Given the description of an element on the screen output the (x, y) to click on. 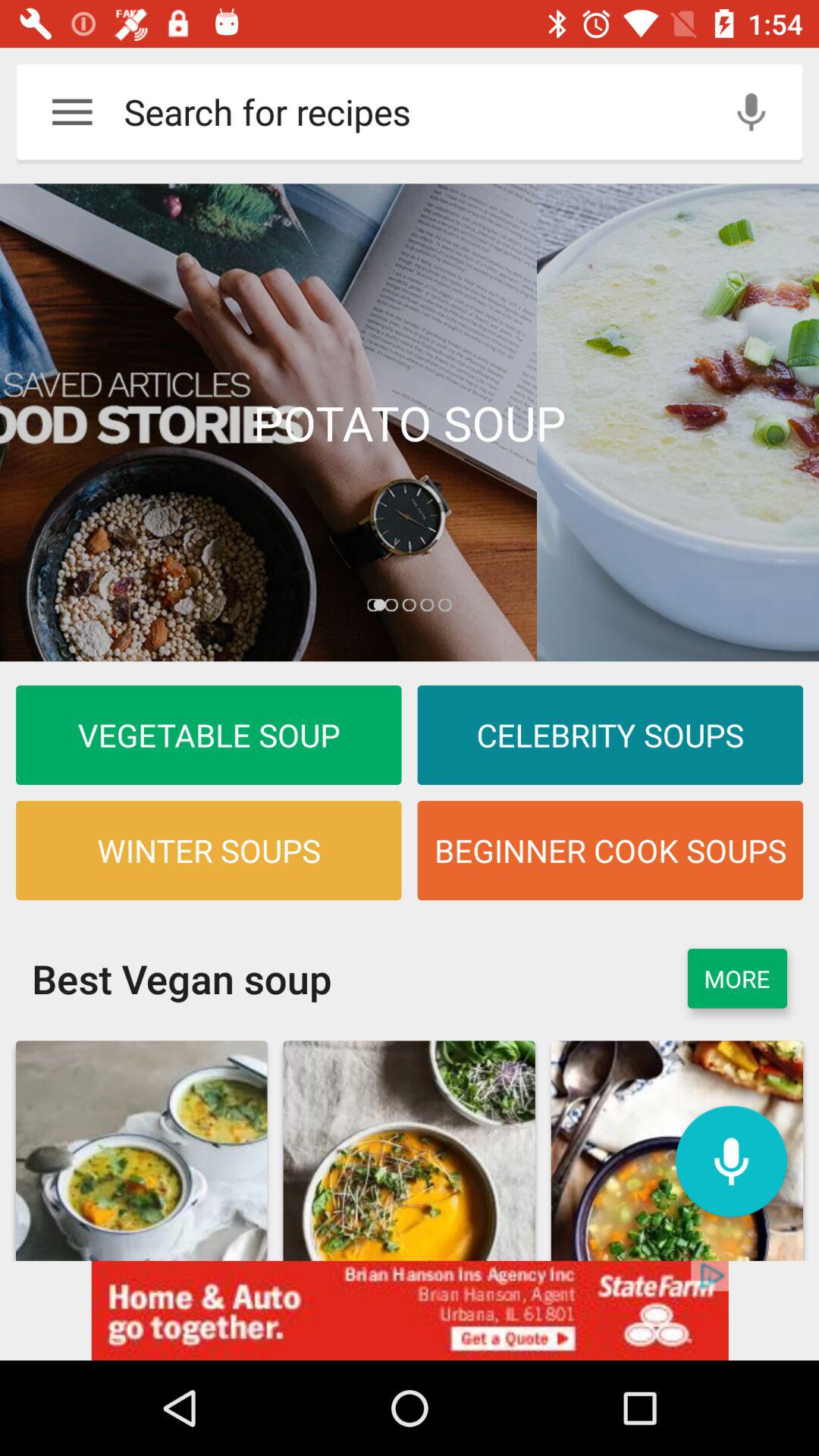
click on advert (409, 1310)
